Given the description of an element on the screen output the (x, y) to click on. 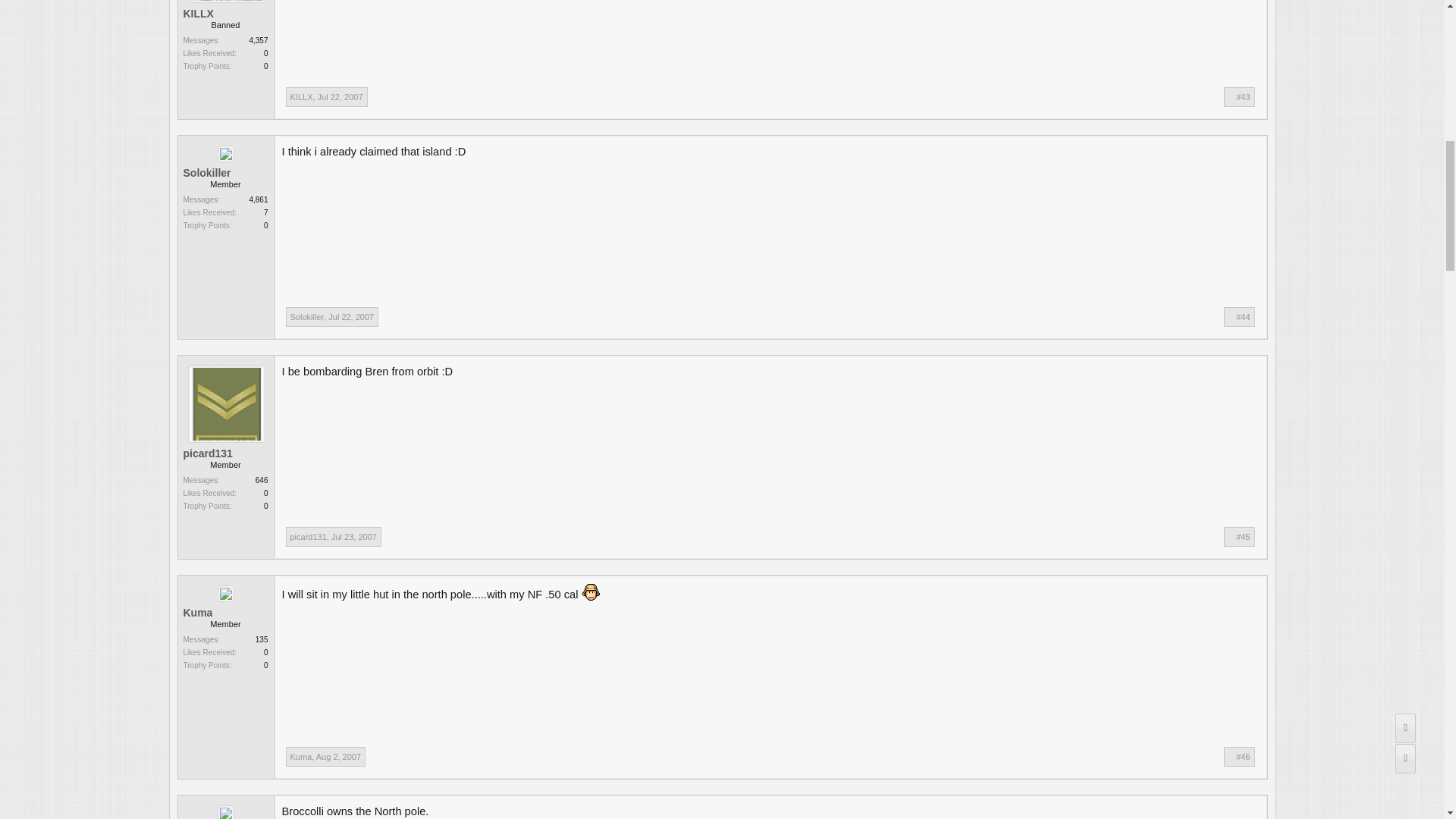
Permalink (1242, 317)
Jul 22, 2007 (339, 96)
KILLX (225, 13)
Permalink (354, 536)
Permalink (1242, 96)
4,357 (257, 40)
Permalink (339, 96)
Permalink (351, 316)
4,861 (257, 199)
KILLX (301, 96)
